Given the description of an element on the screen output the (x, y) to click on. 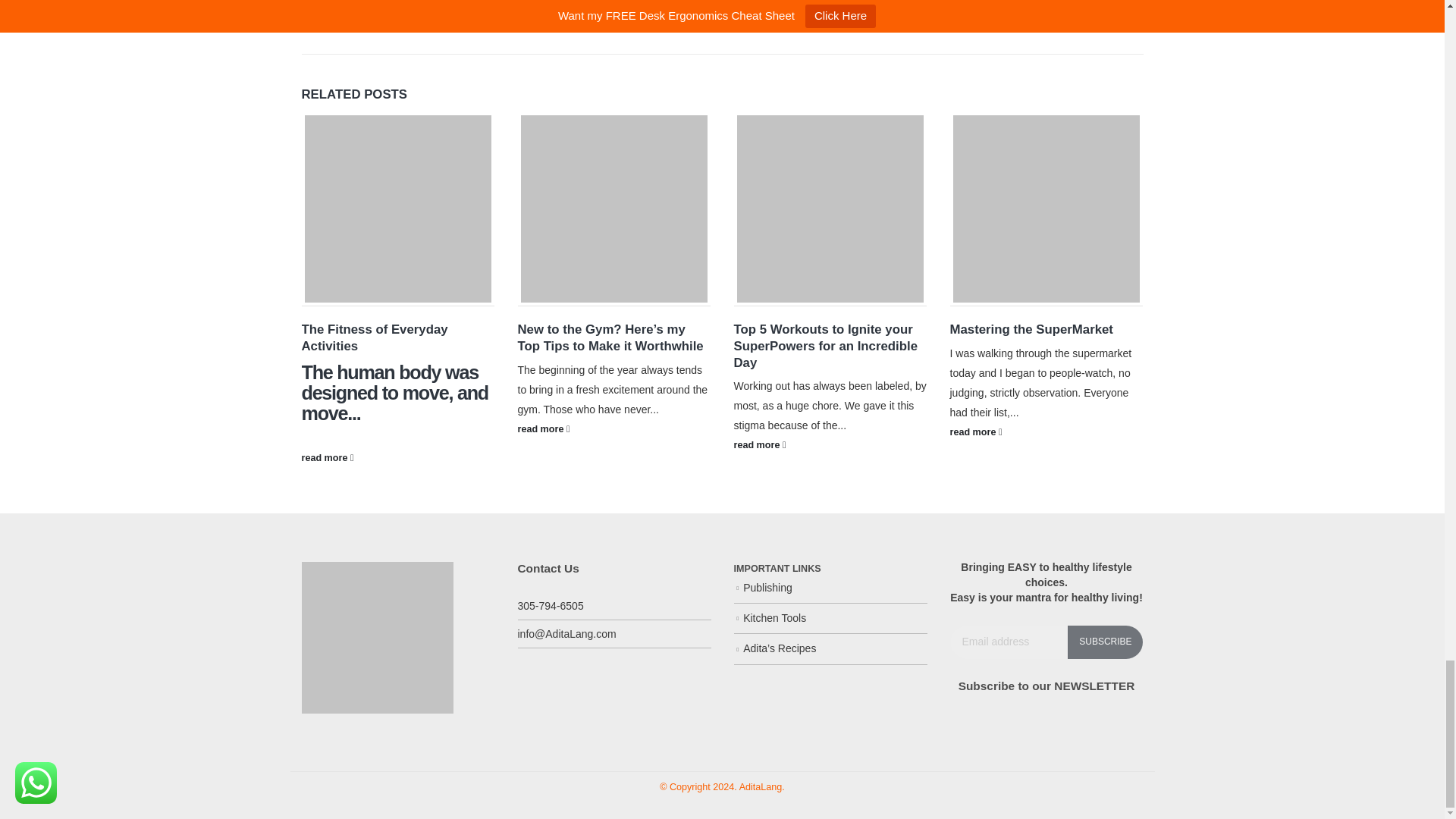
SUBSCRIBE (1104, 642)
